Given the description of an element on the screen output the (x, y) to click on. 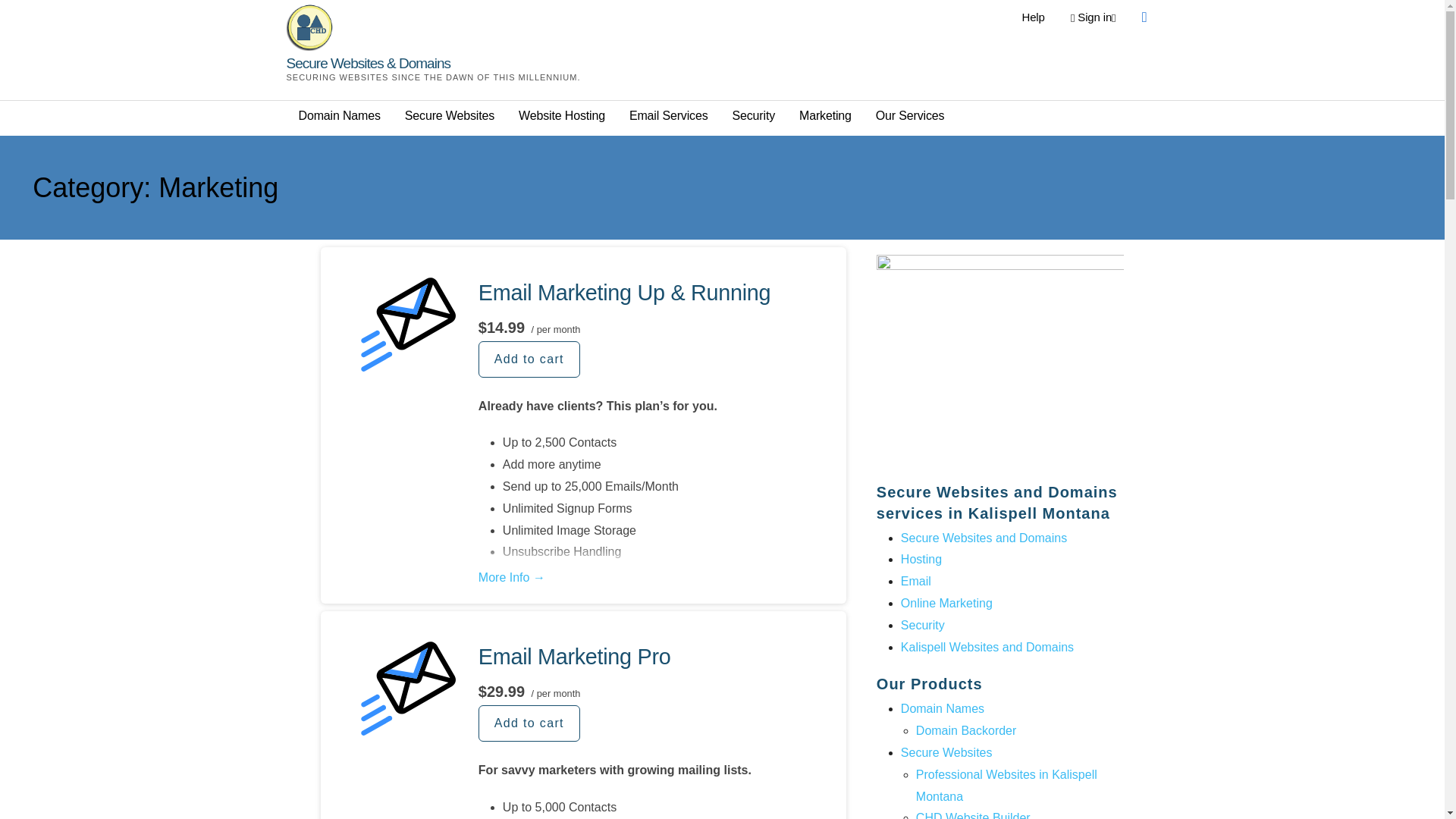
Secure Websites (449, 116)
Domain Names (339, 116)
Website Hosting (561, 116)
Sign in (1092, 16)
Help (1032, 16)
